Given the description of an element on the screen output the (x, y) to click on. 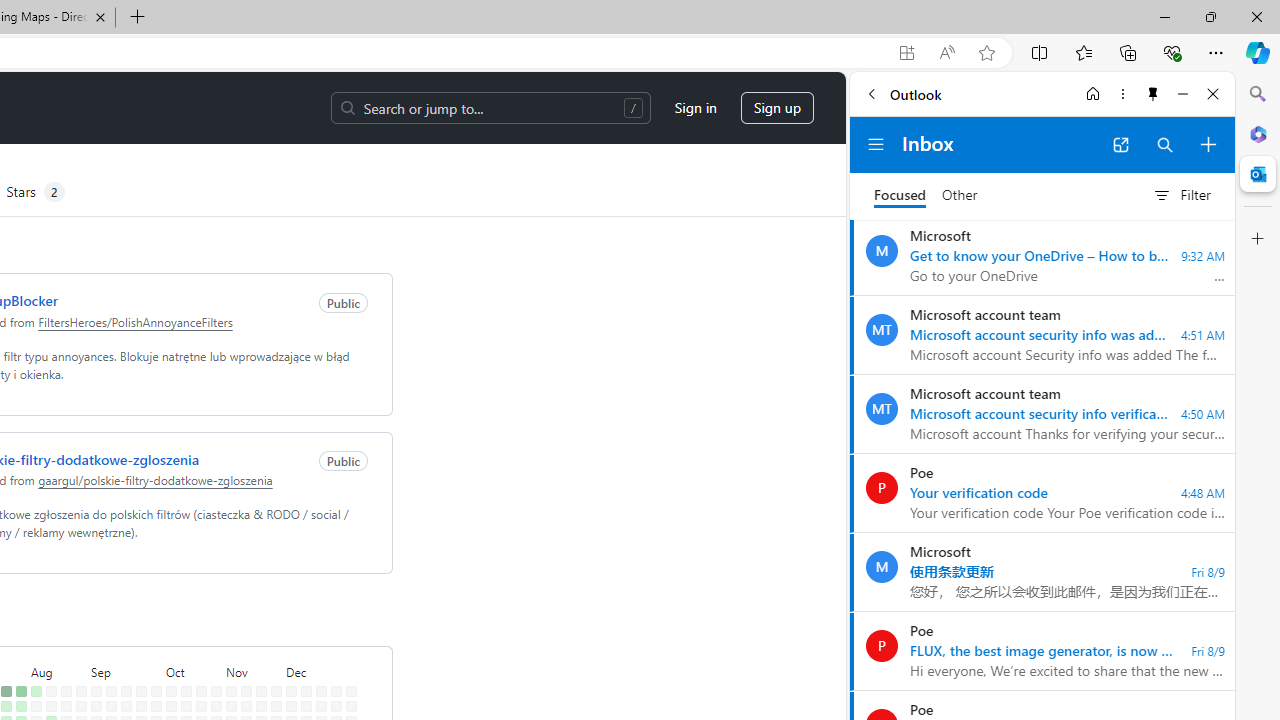
Focused Inbox, toggle to go to Other Inbox (925, 195)
Filter (1181, 195)
Get the Weekly Newsletter (223, 121)
Get the Weekly Newsletter (223, 121)
Folder navigation (876, 144)
Other (959, 195)
More options (1122, 93)
Close Outlook pane (1258, 174)
